Given the description of an element on the screen output the (x, y) to click on. 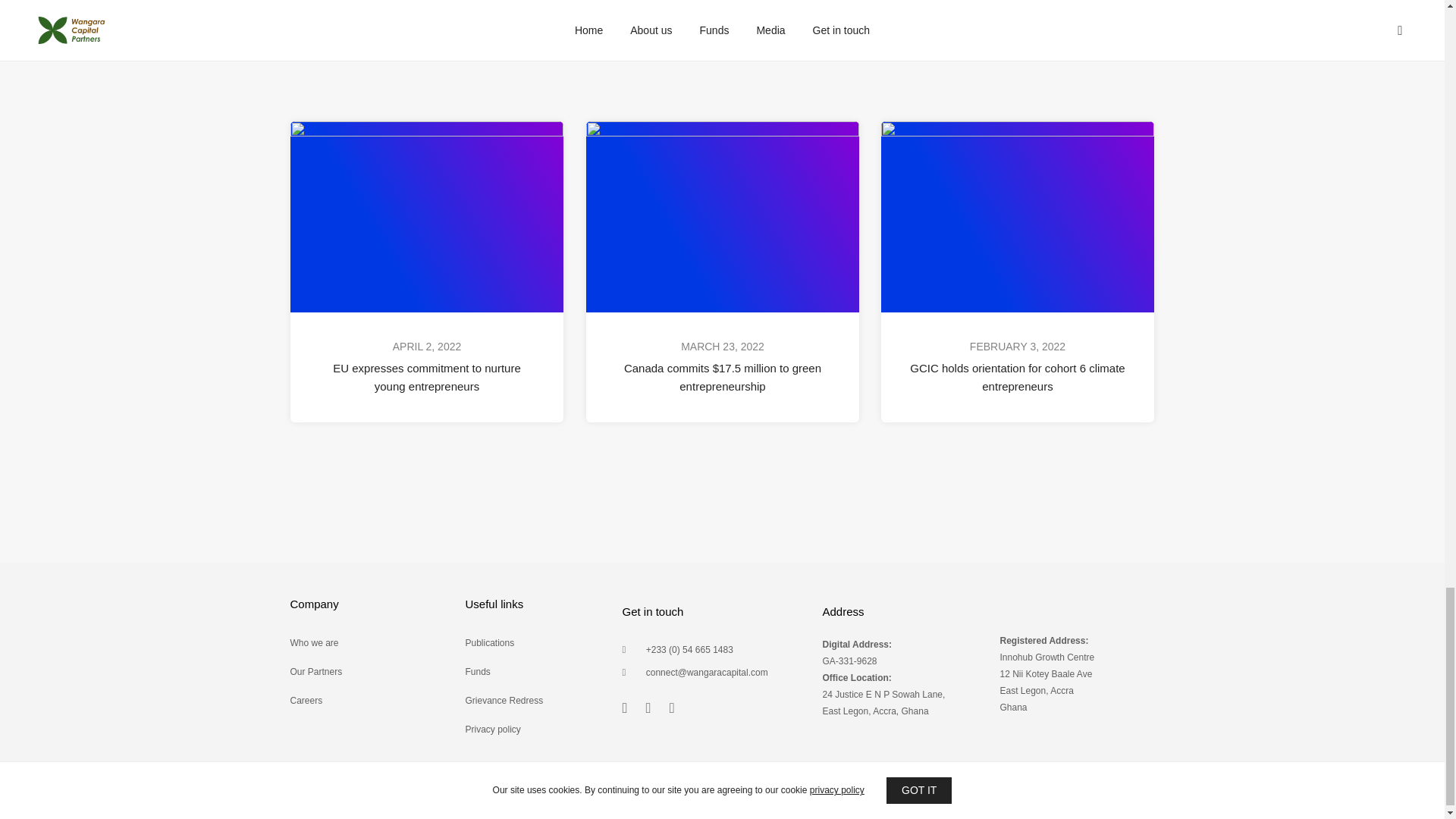
GCIC holds orientation for cohort 6 climate entrepreneurs (1016, 377)
Our Partners (315, 671)
EU expresses commitment to nurture young entrepreneurs (427, 377)
Who we are (313, 643)
